Given the description of an element on the screen output the (x, y) to click on. 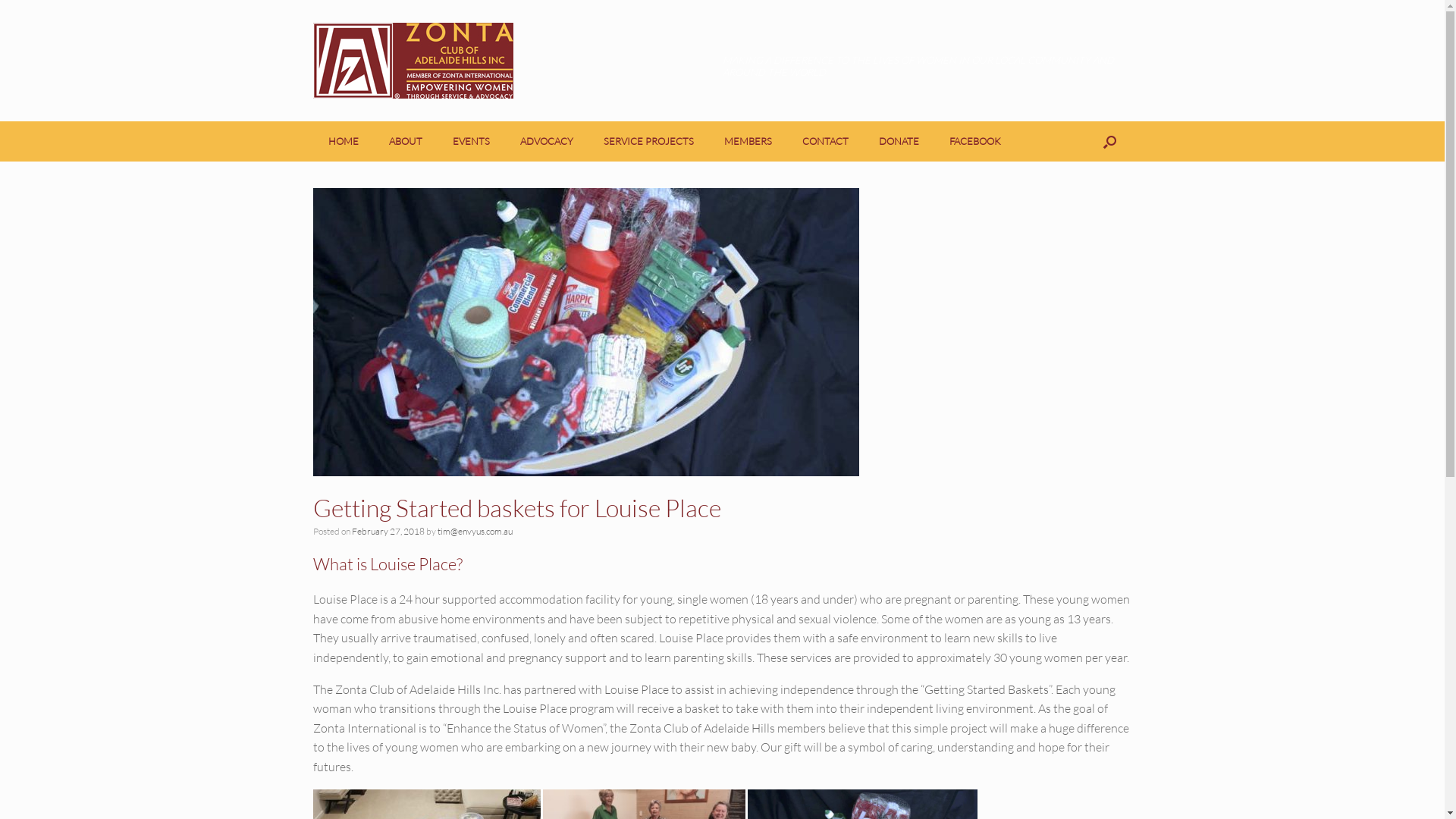
CONTACT Element type: text (825, 141)
MEMBERS Element type: text (747, 141)
ABOUT Element type: text (404, 141)
ZONTA Club of Adelaide Hills Element type: hover (412, 60)
February 27, 2018 Element type: text (387, 530)
FACEBOOK Element type: text (975, 141)
SERVICE PROJECTS Element type: text (648, 141)
DONATE Element type: text (897, 141)
HOME Element type: text (342, 141)
EVENTS Element type: text (470, 141)
tim@envyus.com.au Element type: text (473, 530)
ADVOCACY Element type: text (546, 141)
